Given the description of an element on the screen output the (x, y) to click on. 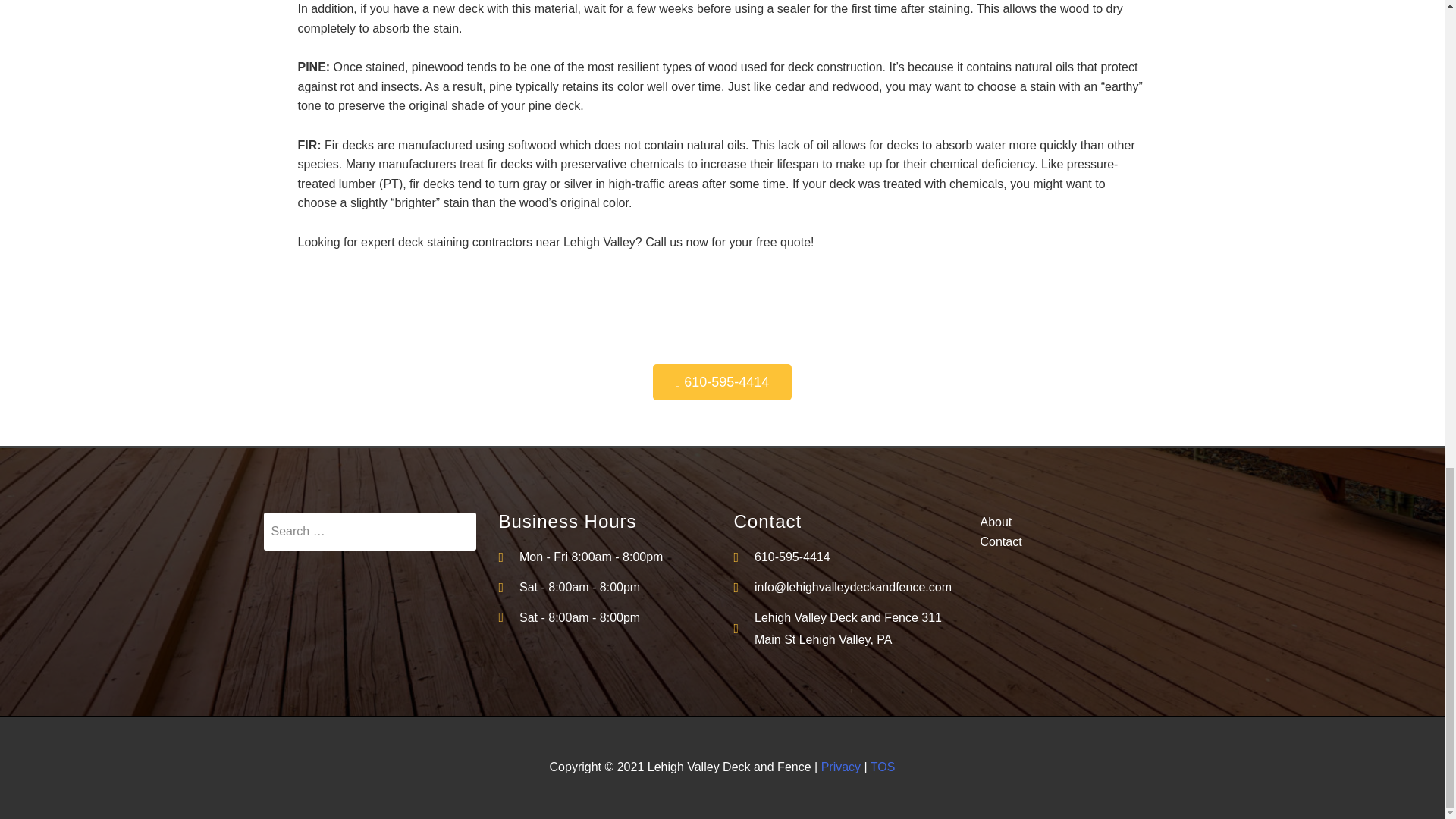
About (1074, 522)
Privacy (840, 766)
610-595-4414 (722, 381)
610-595-4414 (839, 557)
Search (369, 531)
Contact (1074, 542)
TOS (882, 766)
